Given the description of an element on the screen output the (x, y) to click on. 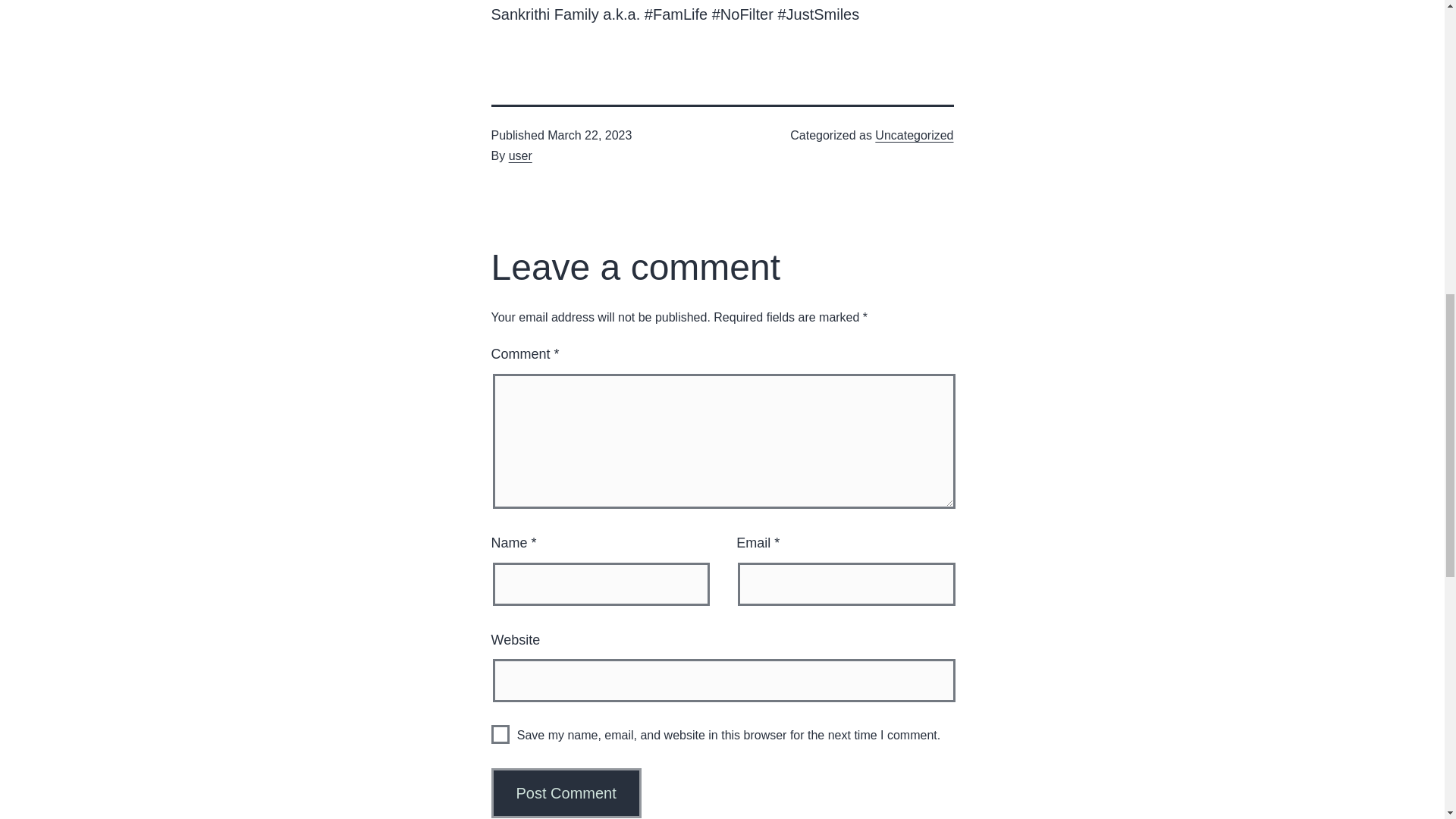
Post Comment (567, 793)
Post Comment (567, 793)
yes (500, 733)
user (520, 155)
Uncategorized (914, 134)
